Given the description of an element on the screen output the (x, y) to click on. 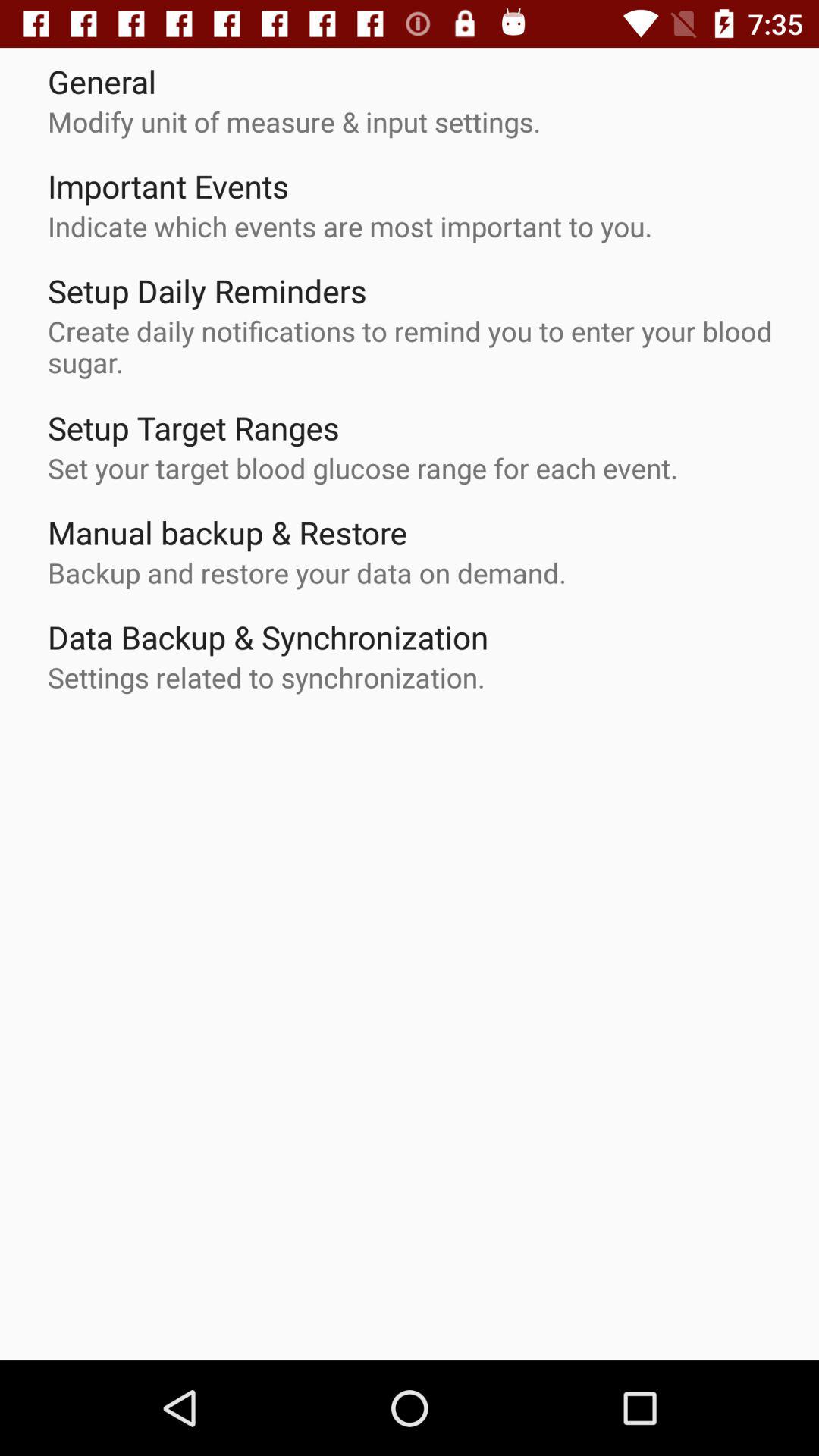
select the icon below the create daily notifications icon (193, 427)
